Given the description of an element on the screen output the (x, y) to click on. 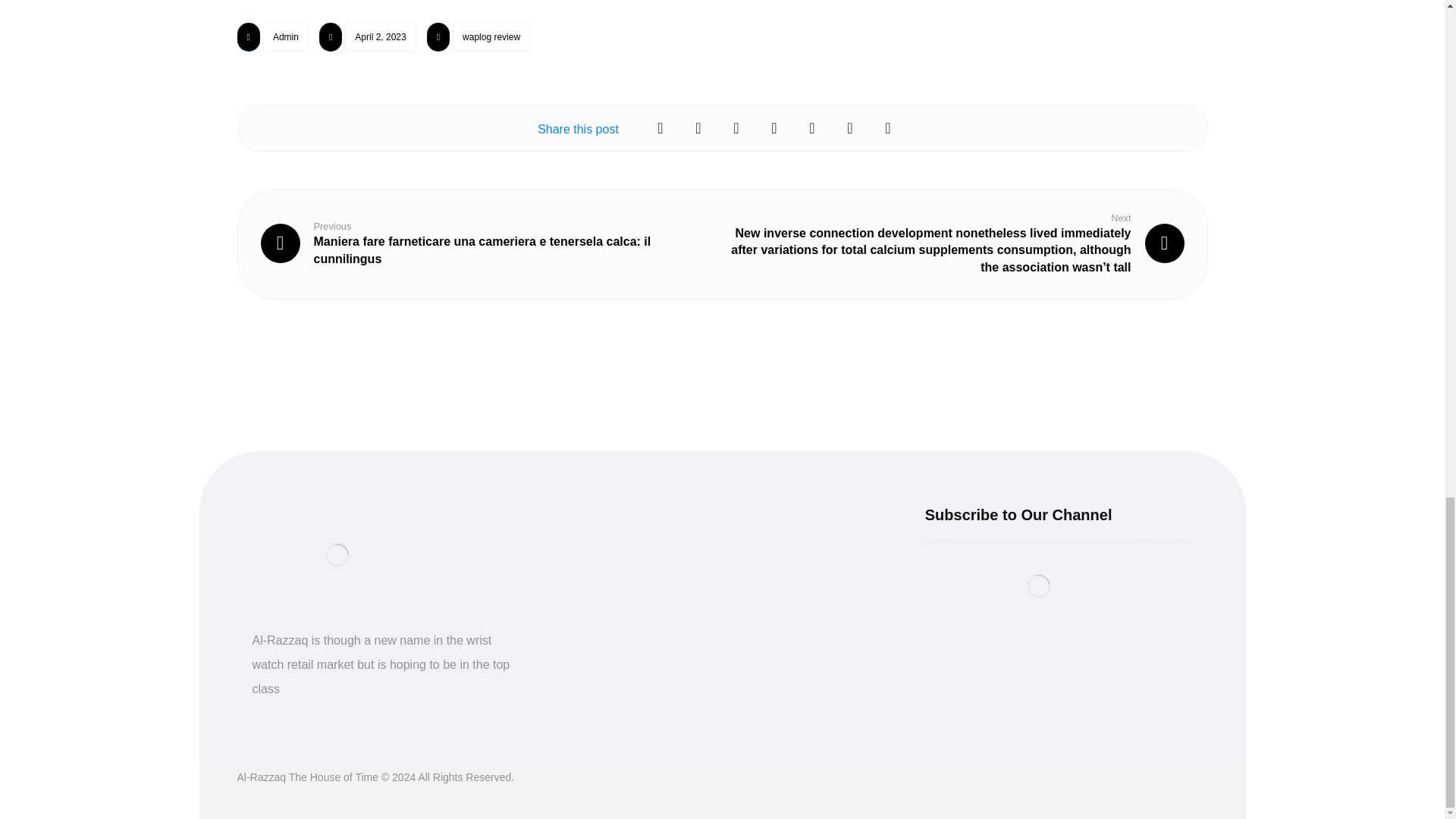
April 2, 2023 (379, 36)
Admin (285, 36)
waplog review (490, 36)
